Given the description of an element on the screen output the (x, y) to click on. 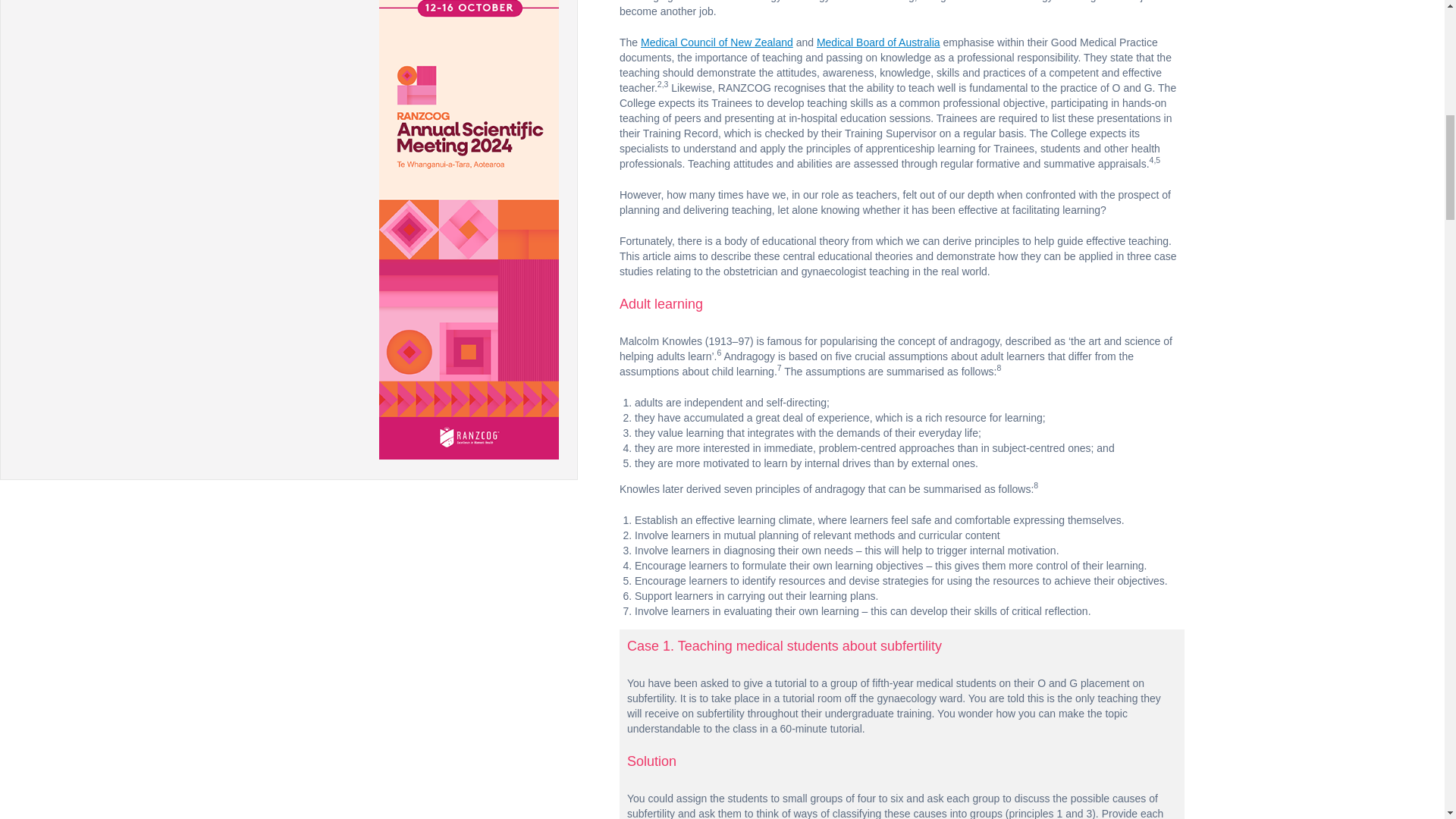
Medical Council of New Zealand (716, 42)
Medical Board of Australia (878, 42)
